Given the description of an element on the screen output the (x, y) to click on. 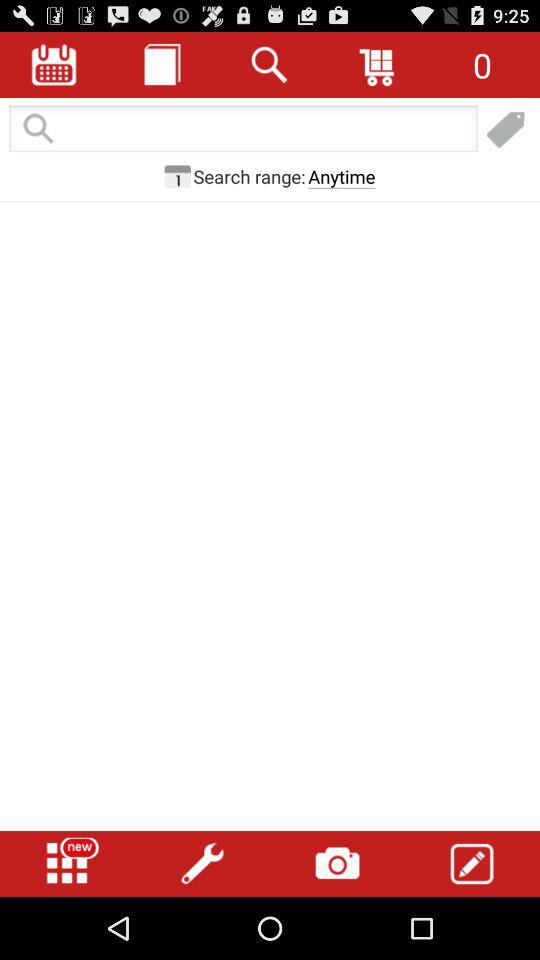
turn off the icon to the left of search range: (177, 175)
